Given the description of an element on the screen output the (x, y) to click on. 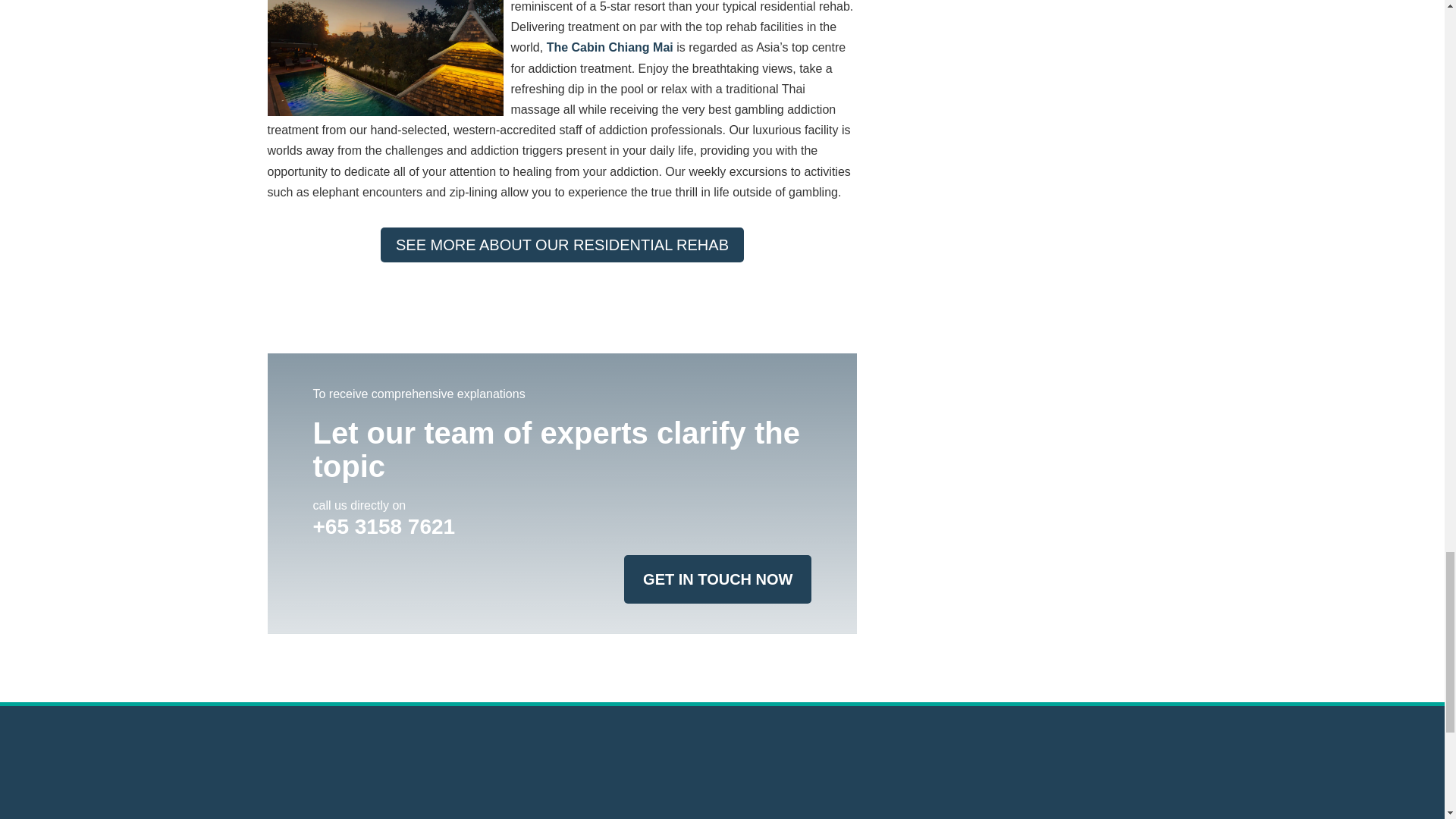
The Cabin Chiang Mai (609, 47)
The Cabin Chiang Mai - The Cabin Rehab (384, 58)
SEE MORE ABOUT OUR RESIDENTIAL REHAB (562, 244)
GET IN TOUCH NOW (717, 579)
